Given the description of an element on the screen output the (x, y) to click on. 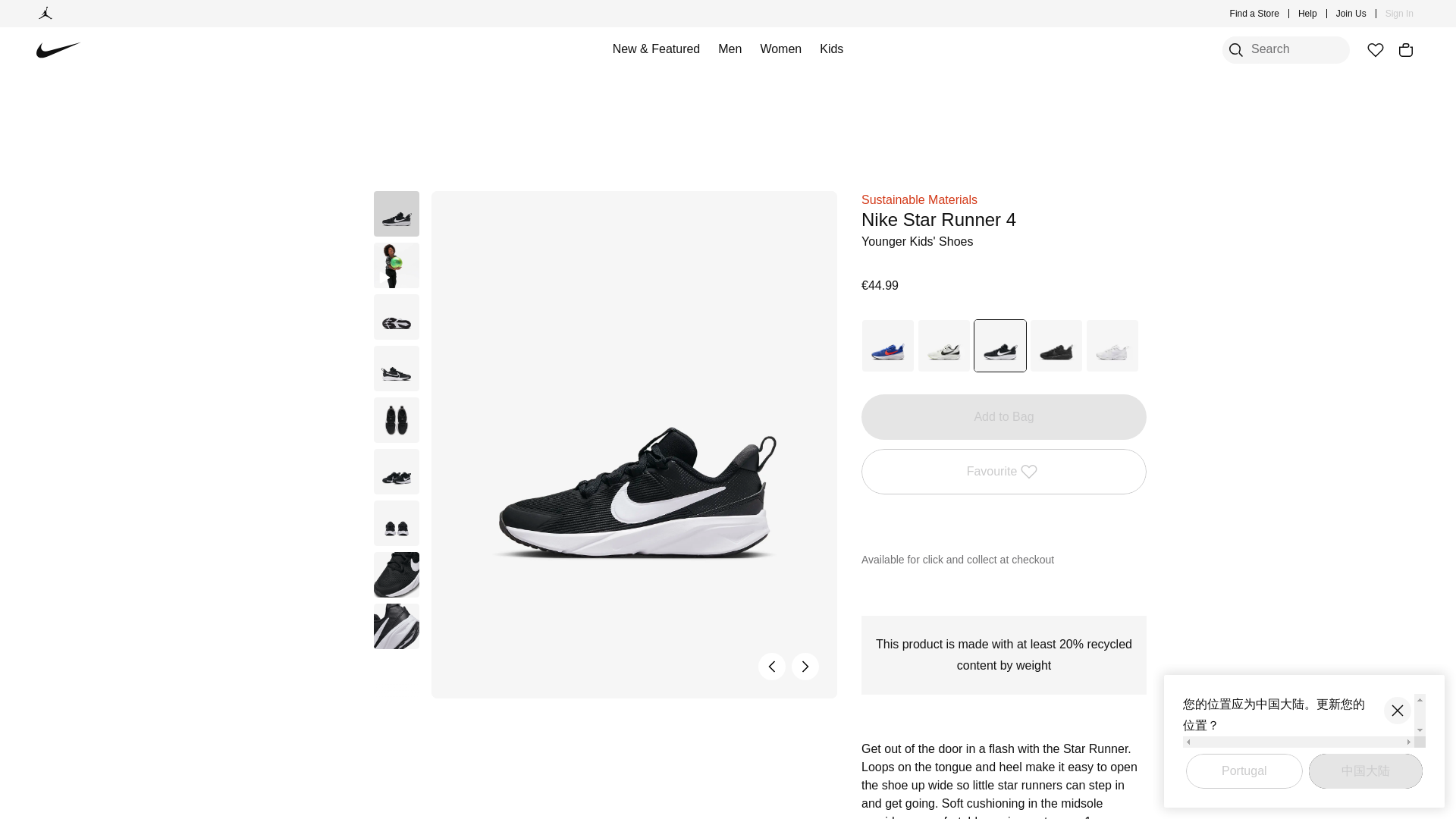
Bag Items: 0 (1405, 49)
Join Us (1351, 13)
Favourites (1375, 49)
Help (1307, 13)
Find a Store (1254, 13)
Sign In (1399, 13)
